Given the description of an element on the screen output the (x, y) to click on. 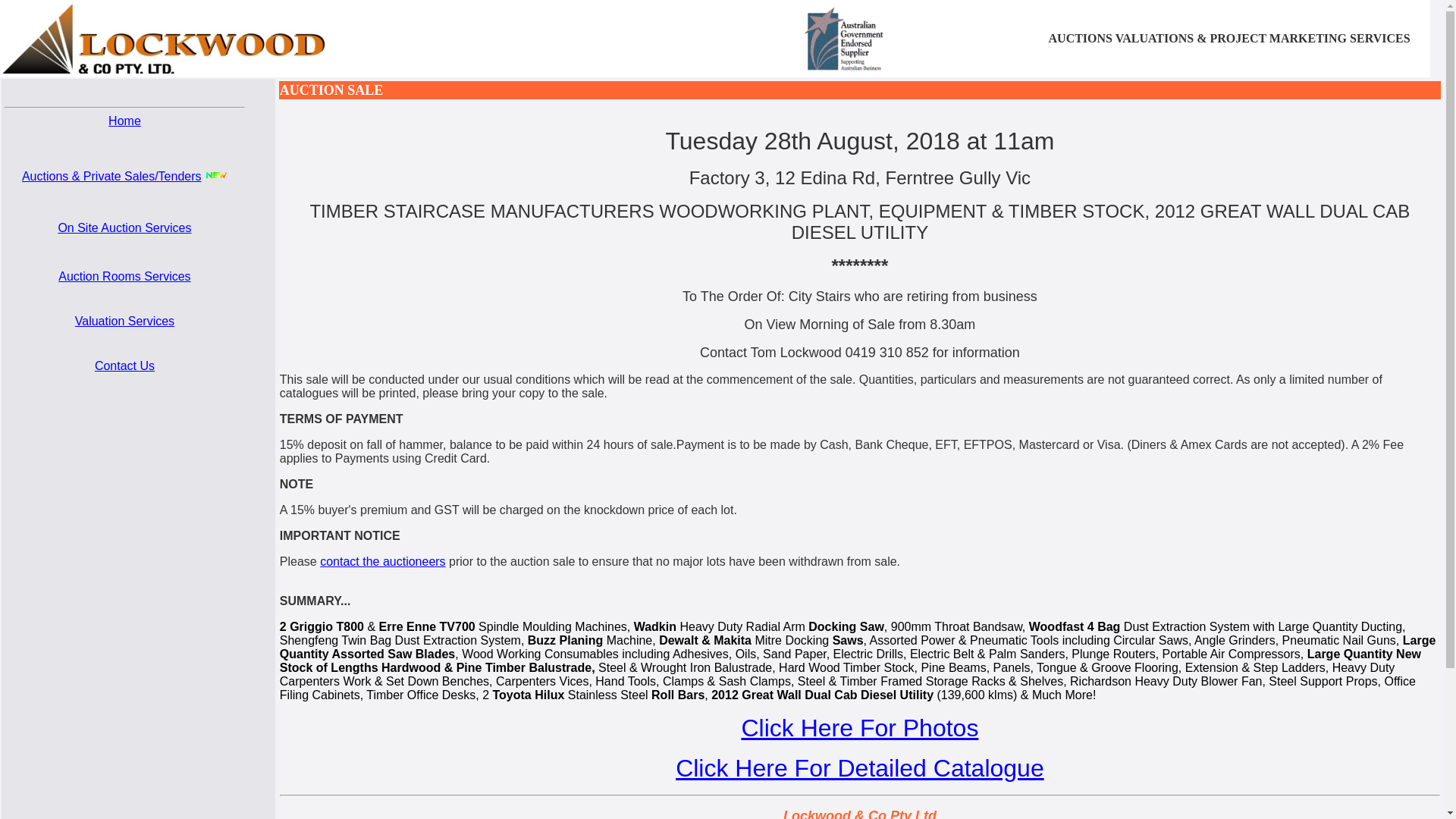
Contact Us Element type: text (124, 365)
contact the auctioneers Element type: text (382, 561)
Home Element type: text (124, 120)
Click Here For Detailed Catalogue Element type: text (859, 767)
Click Here For Photos Element type: text (859, 727)
Auctions & Private Sales/Tenders Element type: text (111, 175)
Valuation Services Element type: text (124, 320)
On Site Auction Services Element type: text (124, 227)
Auction Rooms Services Element type: text (124, 275)
